Given the description of an element on the screen output the (x, y) to click on. 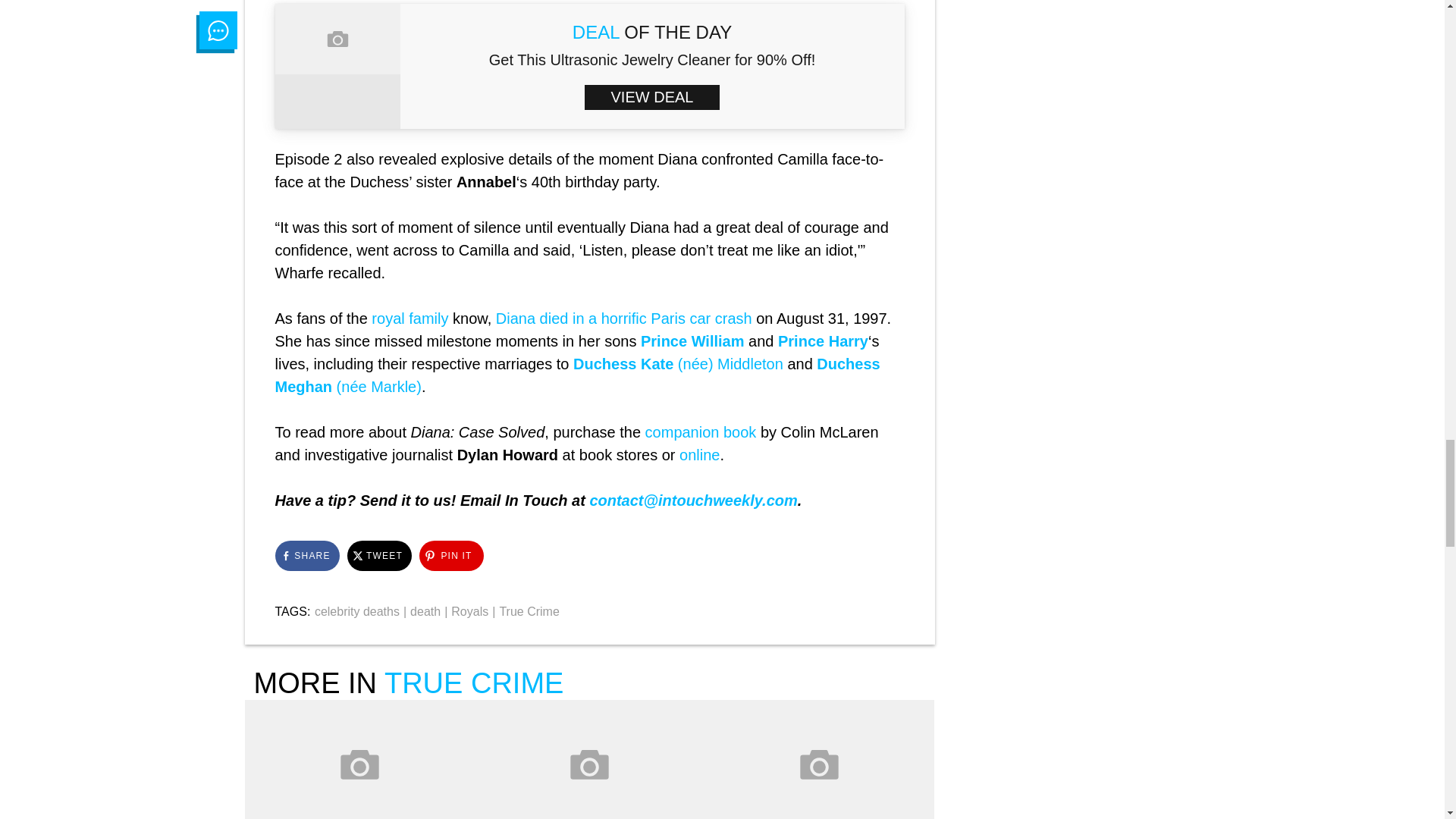
Click to share on Twitter (379, 555)
Click to share on Facebook (307, 555)
Click to share on Pinterest (451, 555)
